Given the description of an element on the screen output the (x, y) to click on. 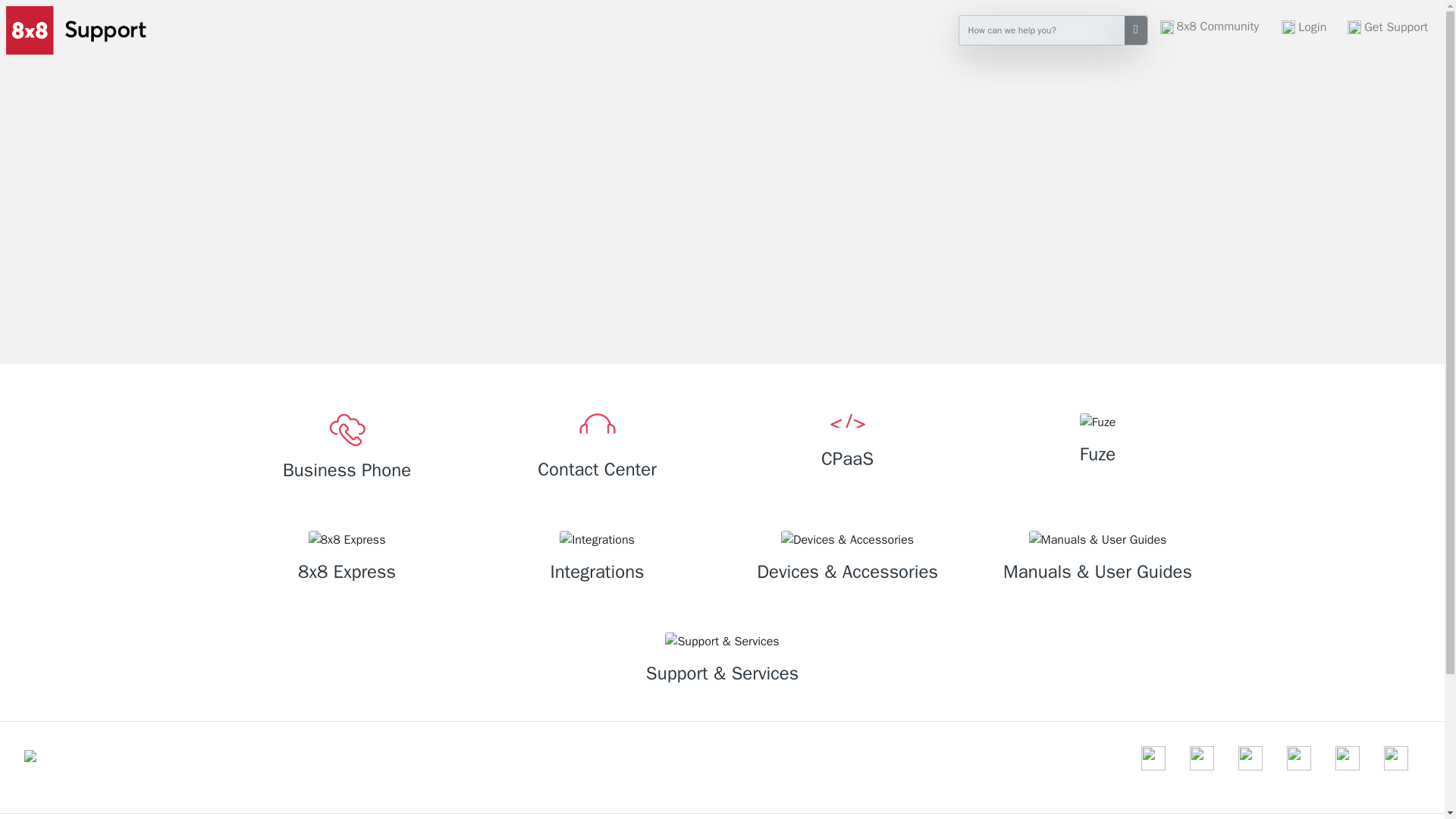
CPaaS (846, 444)
Search form (1053, 30)
Get Support (1387, 26)
Fuze (1096, 442)
8x8 Community (1217, 26)
Get Support (1387, 26)
Searchbar (1041, 30)
Get Support (1396, 27)
Integrations (596, 559)
Home (73, 29)
